Given the description of an element on the screen output the (x, y) to click on. 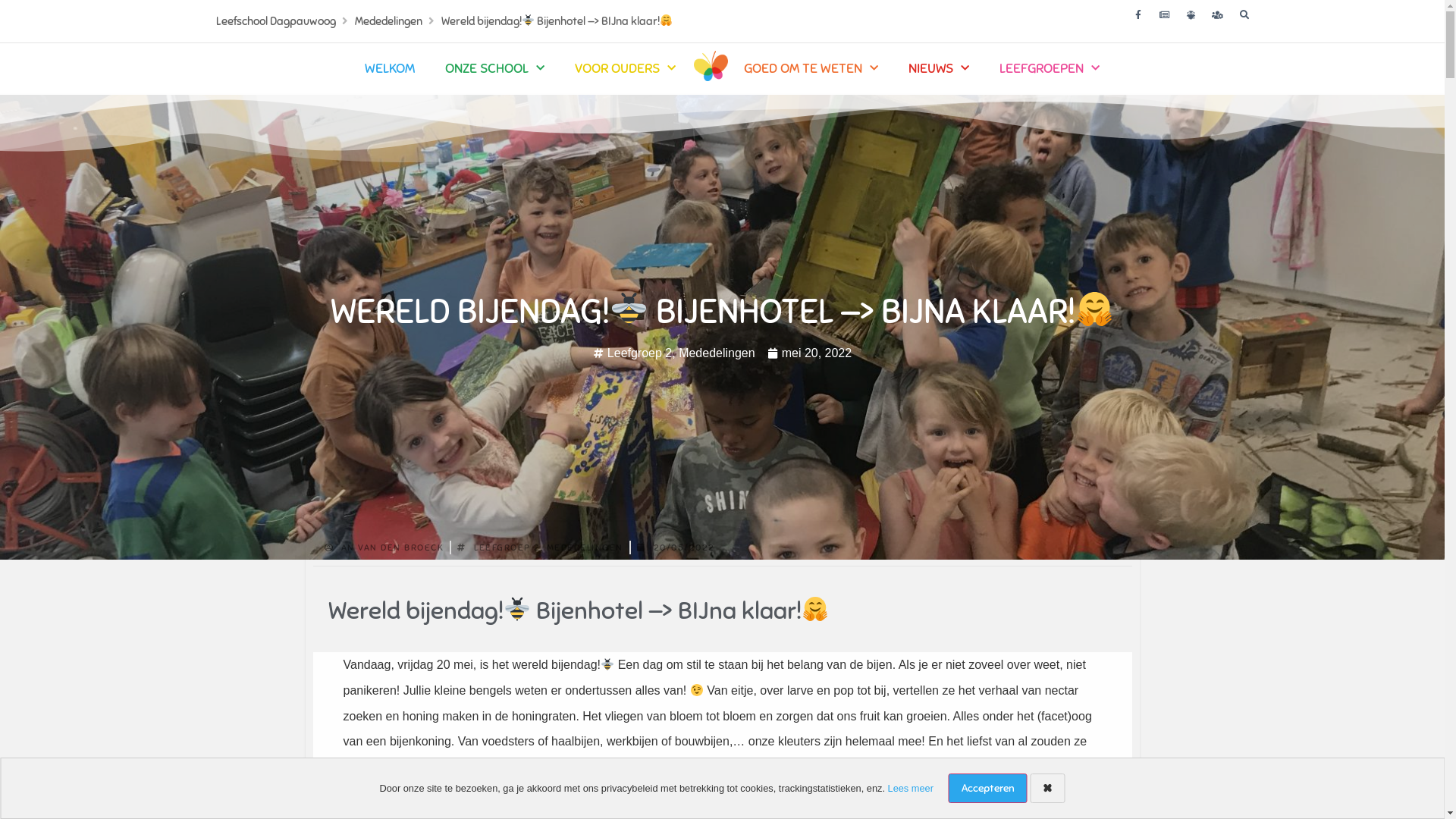
WELKOM Element type: text (388, 67)
mei 20, 2022 Element type: text (809, 353)
Leefschool Dagpauwoog Element type: text (275, 21)
ONZE SCHOOL Element type: text (493, 67)
X Element type: text (1047, 788)
20/05/2022 Element type: text (676, 546)
VOOR OUDERS Element type: text (624, 67)
Lees meer Element type: text (910, 787)
Mededelingen Element type: text (388, 21)
NIEUWS Element type: text (938, 67)
Logo-illustrator-1.png Element type: hover (710, 65)
MEDEDELINGEN Element type: text (584, 546)
AN VAN DEN BROECK Element type: text (384, 546)
LEEFGROEPEN Element type: text (1049, 67)
LEEFGROEP 2 Element type: text (506, 546)
GOED OM TE WETEN Element type: text (810, 67)
Mededelingen Element type: text (716, 351)
Accepteren Element type: text (987, 788)
Leefgroep 2 Element type: text (639, 351)
